Given the description of an element on the screen output the (x, y) to click on. 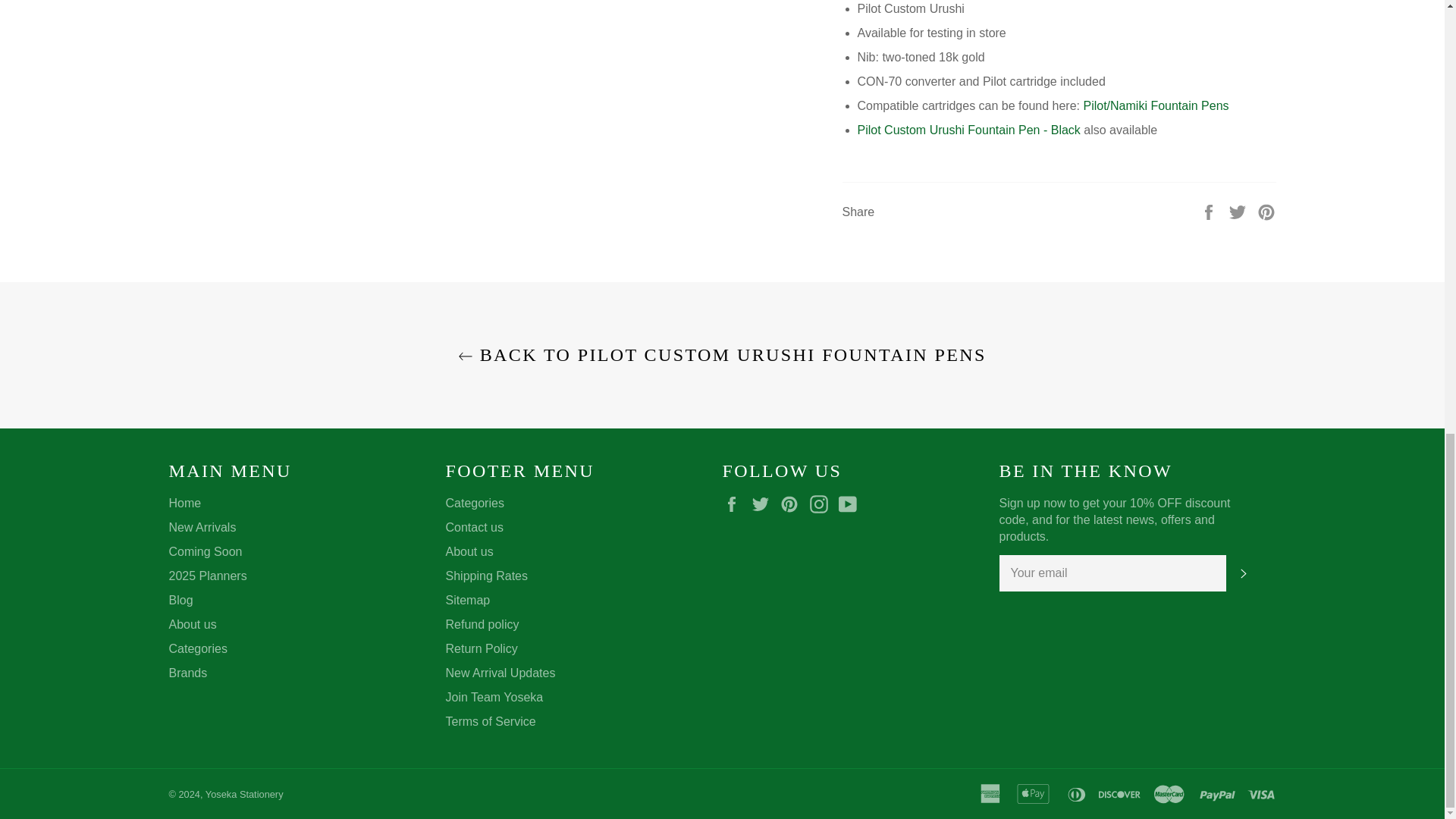
Yoseka Stationery on YouTube (851, 504)
Tweet on Twitter (1238, 210)
Yoseka Stationery on Pinterest (793, 504)
Yoseka Stationery on Instagram (822, 504)
Yoseka Stationery on Facebook (735, 504)
Yoseka Stationery on Twitter (764, 504)
Share on Facebook (1210, 210)
Pin on Pinterest (1266, 210)
